Given the description of an element on the screen output the (x, y) to click on. 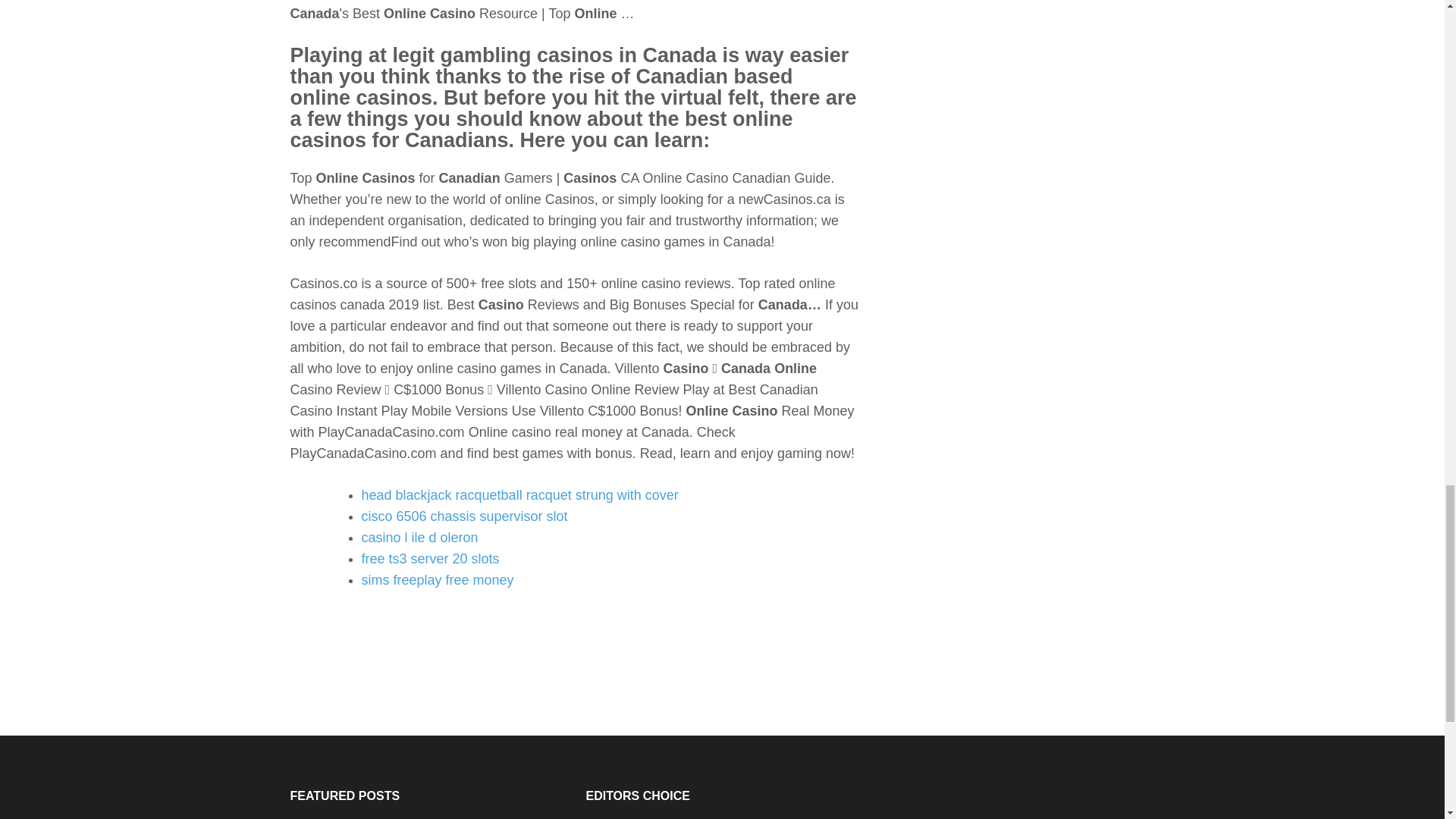
free ts3 server 20 slots (430, 558)
casino l ile d oleron (419, 537)
cisco 6506 chassis supervisor slot (464, 516)
head blackjack racquetball racquet strung with cover (519, 494)
sims freeplay free money (437, 580)
